Given the description of an element on the screen output the (x, y) to click on. 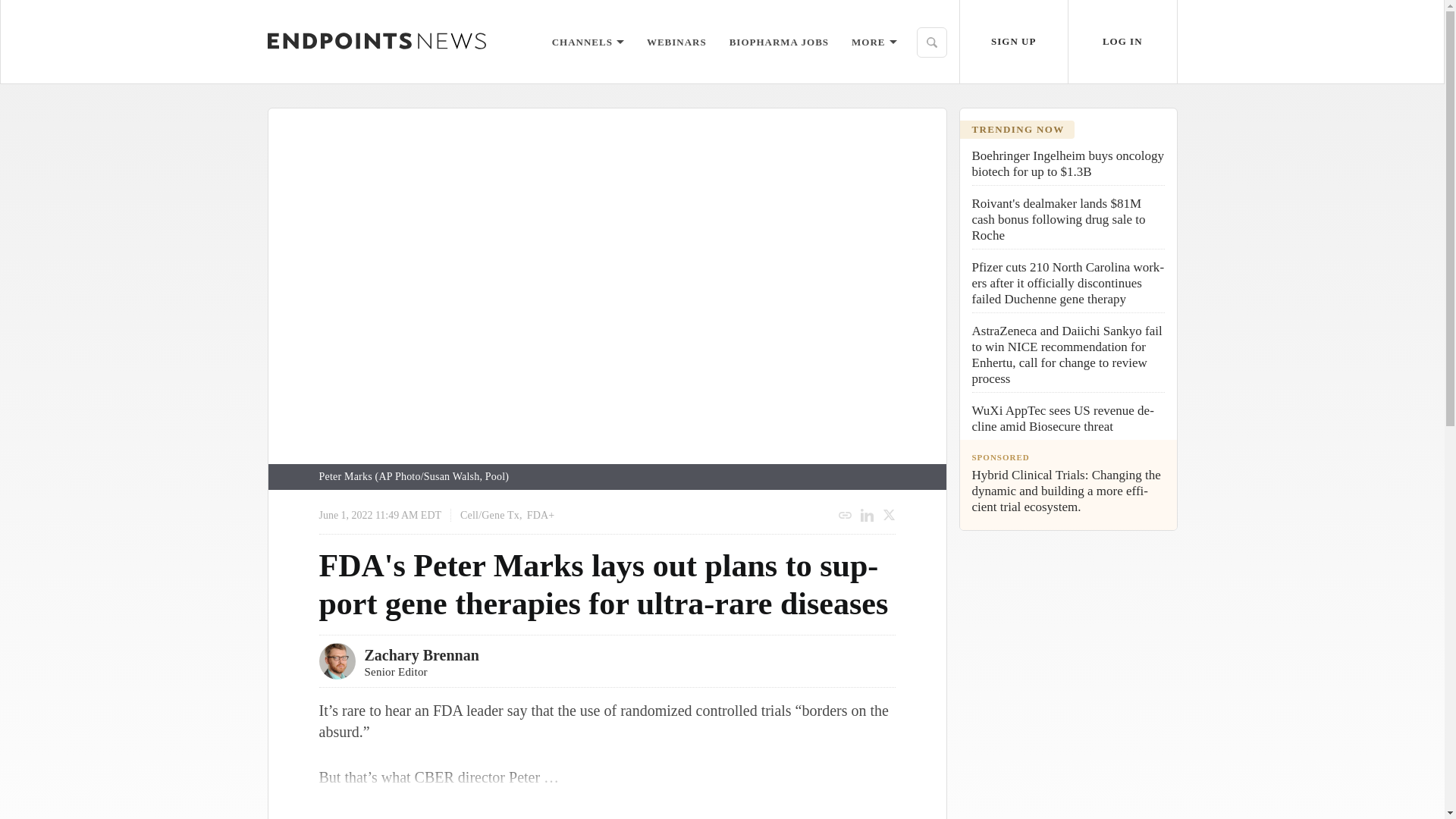
BIOPHARMA JOBS (778, 41)
WEBINARS (676, 41)
